Given the description of an element on the screen output the (x, y) to click on. 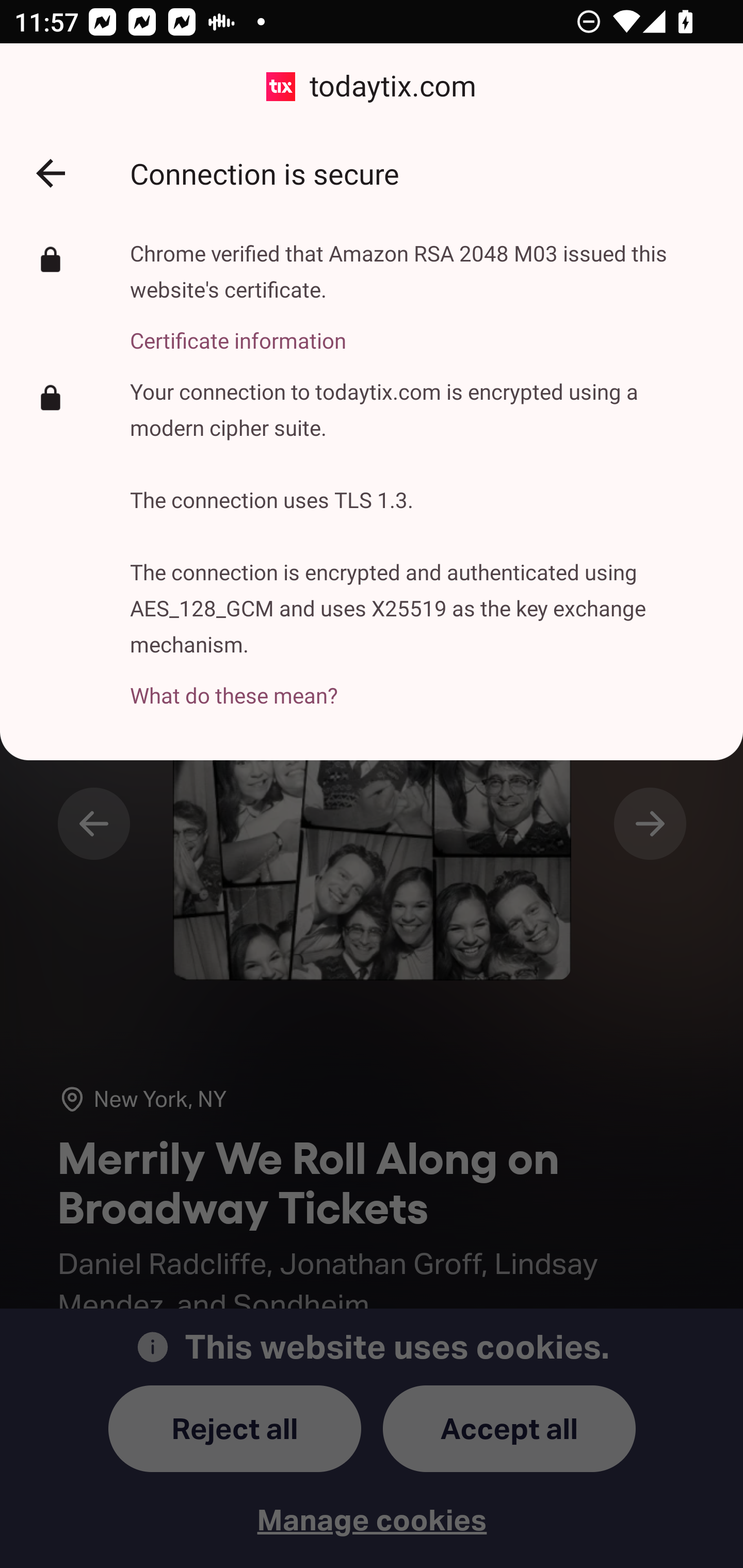
todaytix.com (371, 86)
Back (50, 173)
Certificate information (422, 329)
What do these mean? (422, 684)
